Given the description of an element on the screen output the (x, y) to click on. 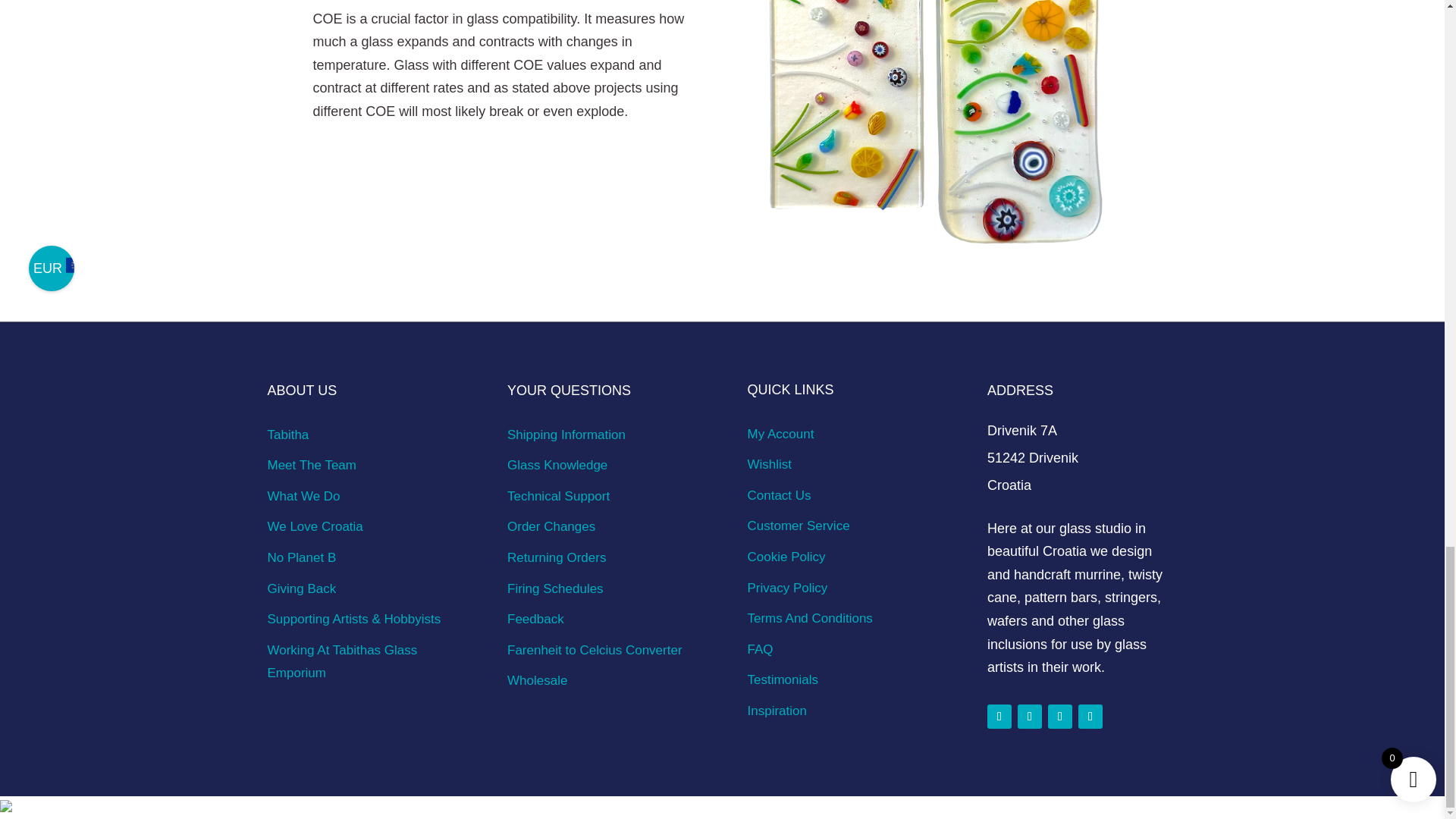
Follow on Pinterest (1059, 716)
Follow on Facebook (999, 716)
MIXING DIFFERENT COE (937, 130)
Follow on Youtube (1090, 716)
Follow on Instagram (1029, 716)
